Given the description of an element on the screen output the (x, y) to click on. 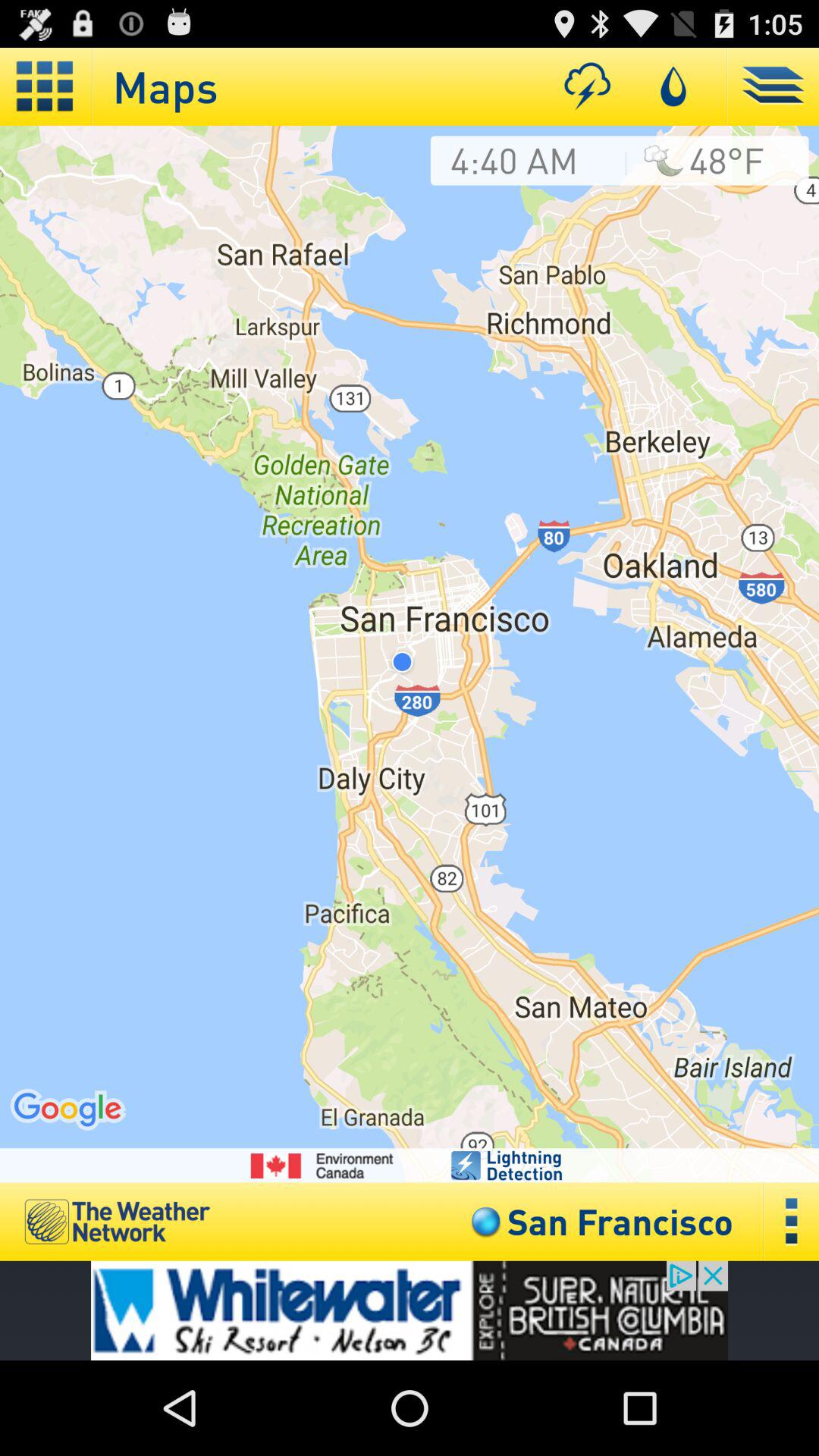
go to advertisement (409, 1310)
